Given the description of an element on the screen output the (x, y) to click on. 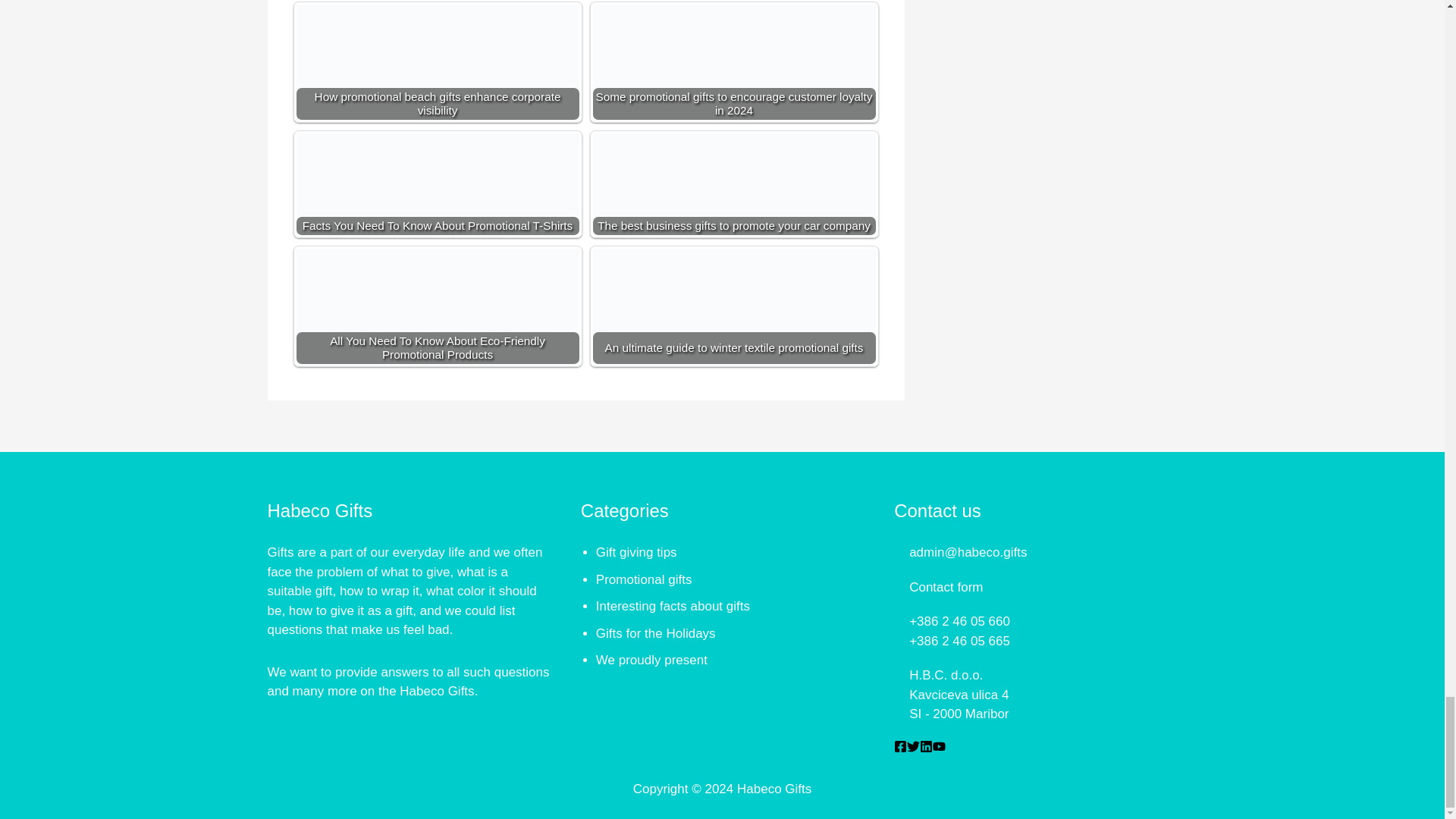
All You Need To Know About Eco-Friendly Promotional Products (436, 329)
Some promotional gifts to encourage customer loyalty in 2024 (734, 85)
An ultimate guide to winter textile promotional gifts (734, 329)
The best business gifts to promote your car company (734, 213)
How promotional beach gifts enhance corporate visibility (436, 85)
Facts You Need To Know About Promotional T-Shirts (436, 213)
